Given the description of an element on the screen output the (x, y) to click on. 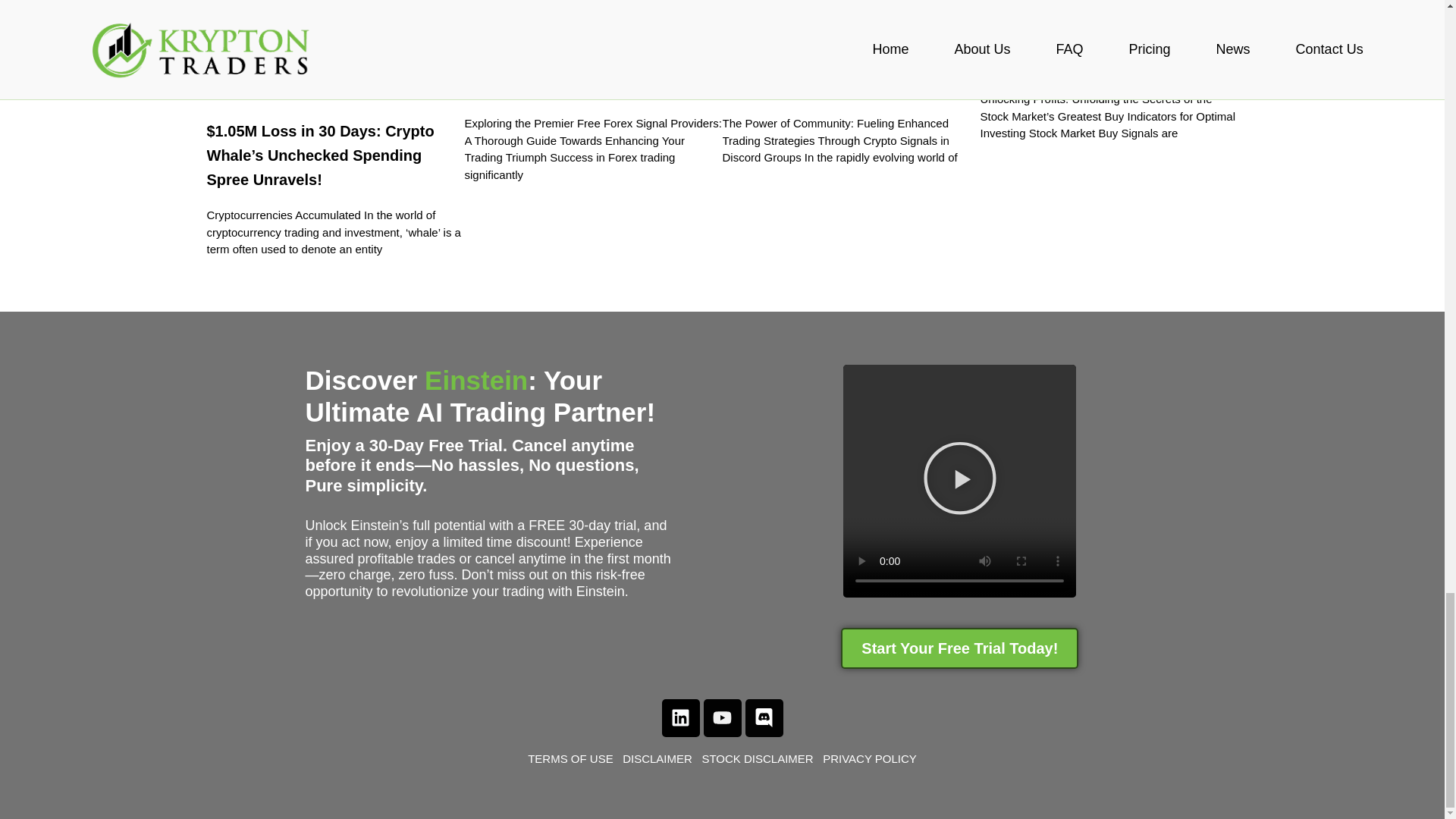
Start Your Free Trial Today! (959, 648)
